Given the description of an element on the screen output the (x, y) to click on. 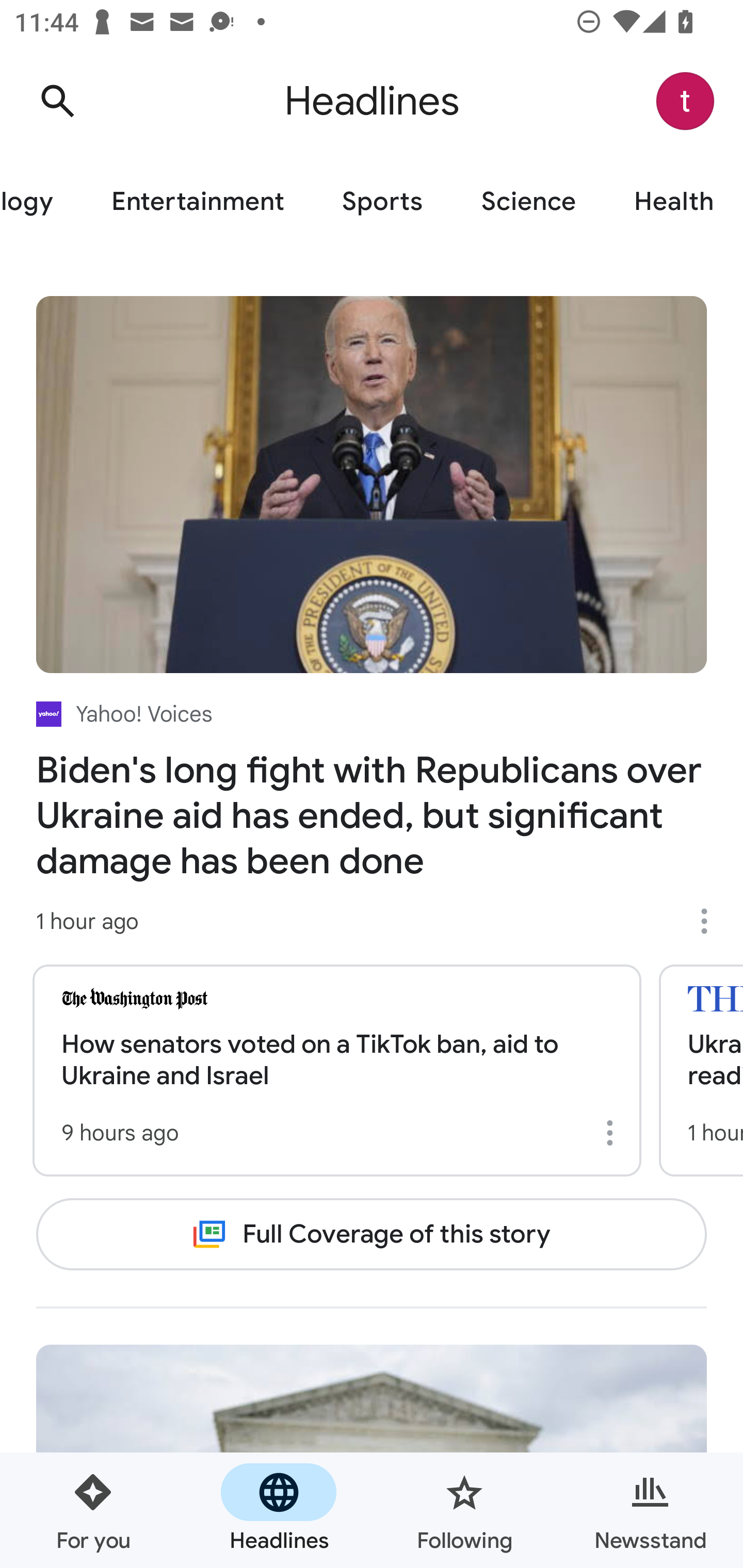
Search (57, 100)
Technology (40, 202)
Entertainment (197, 202)
Sports (382, 202)
Science (527, 202)
Health (673, 202)
More options (711, 921)
More options (613, 1132)
Full Coverage of this story (371, 1233)
For you (92, 1509)
Headlines (278, 1509)
Following (464, 1509)
Newsstand (650, 1509)
